Given the description of an element on the screen output the (x, y) to click on. 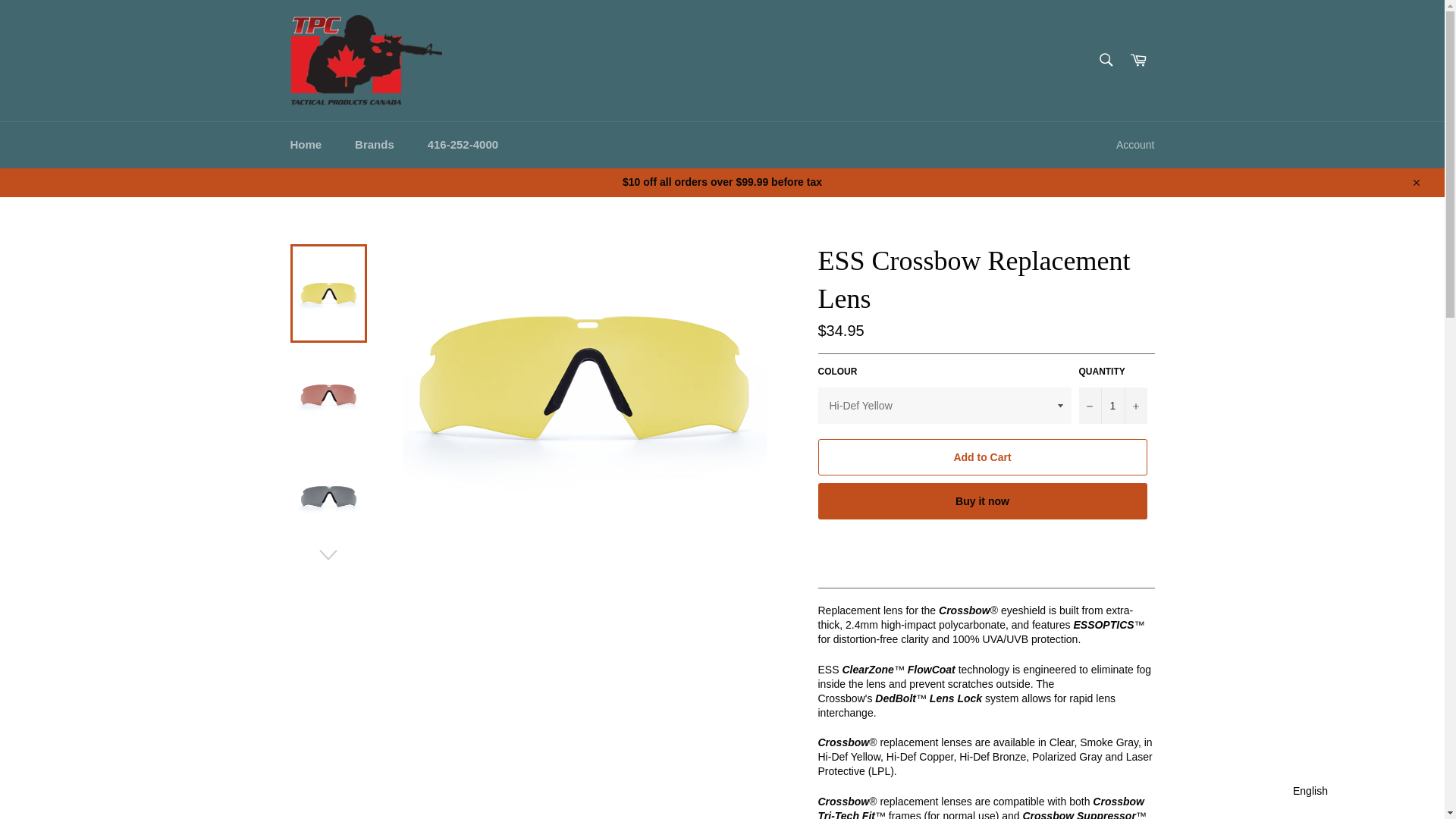
Close (1414, 182)
416-252-4000 (462, 145)
Search (1104, 60)
Account (1134, 144)
Add to Cart (981, 456)
1 (1112, 405)
Brands (374, 145)
Home (305, 145)
Buy it now (981, 501)
Cart (1138, 60)
